Given the description of an element on the screen output the (x, y) to click on. 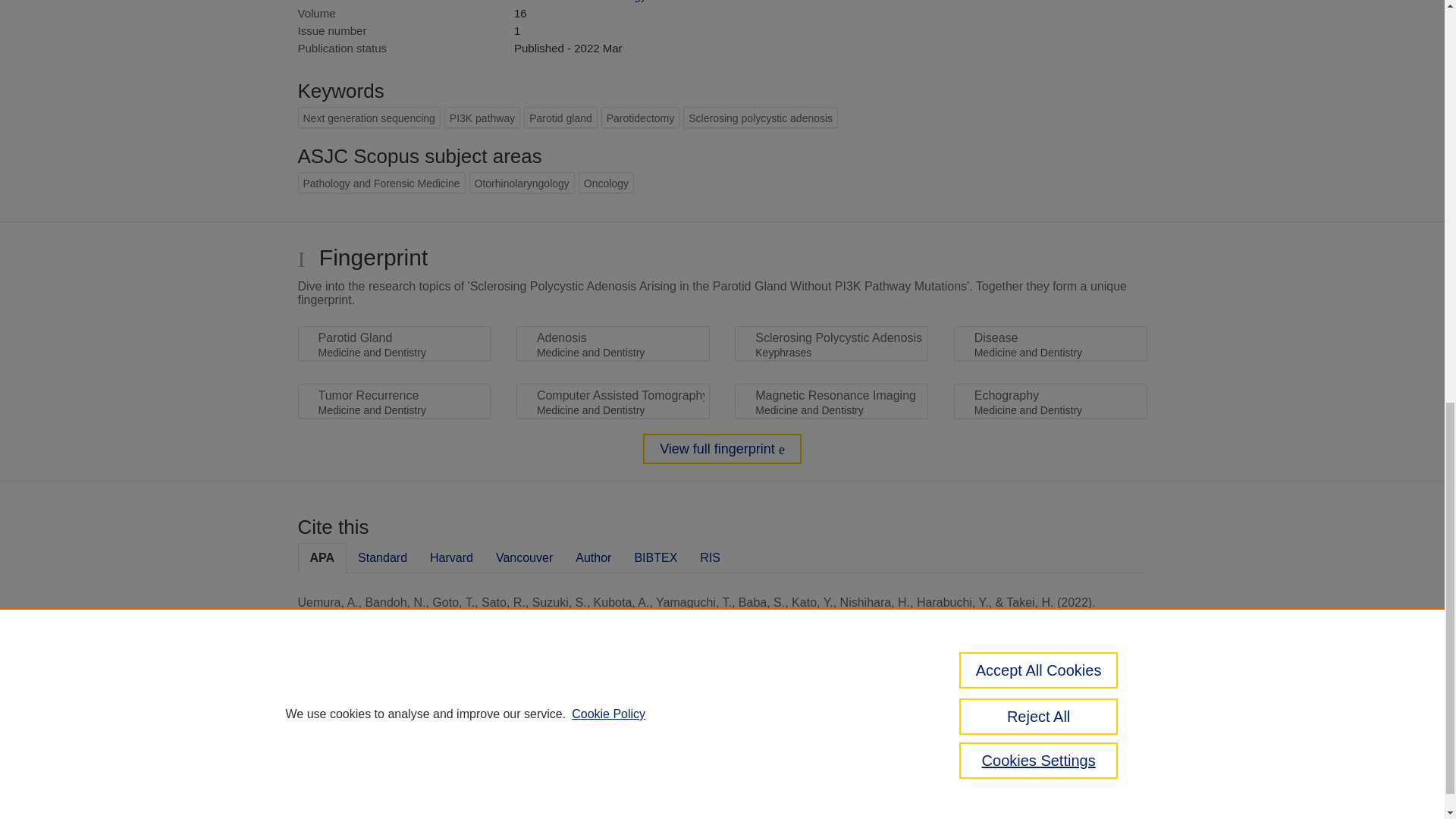
Head and Neck Pathology (579, 1)
About web accessibility (1088, 741)
Pure (362, 736)
use of cookies (796, 787)
Cookies Settings (334, 808)
View full fingerprint (722, 449)
Scopus (394, 736)
Elsevier B.V. (506, 756)
